Given the description of an element on the screen output the (x, y) to click on. 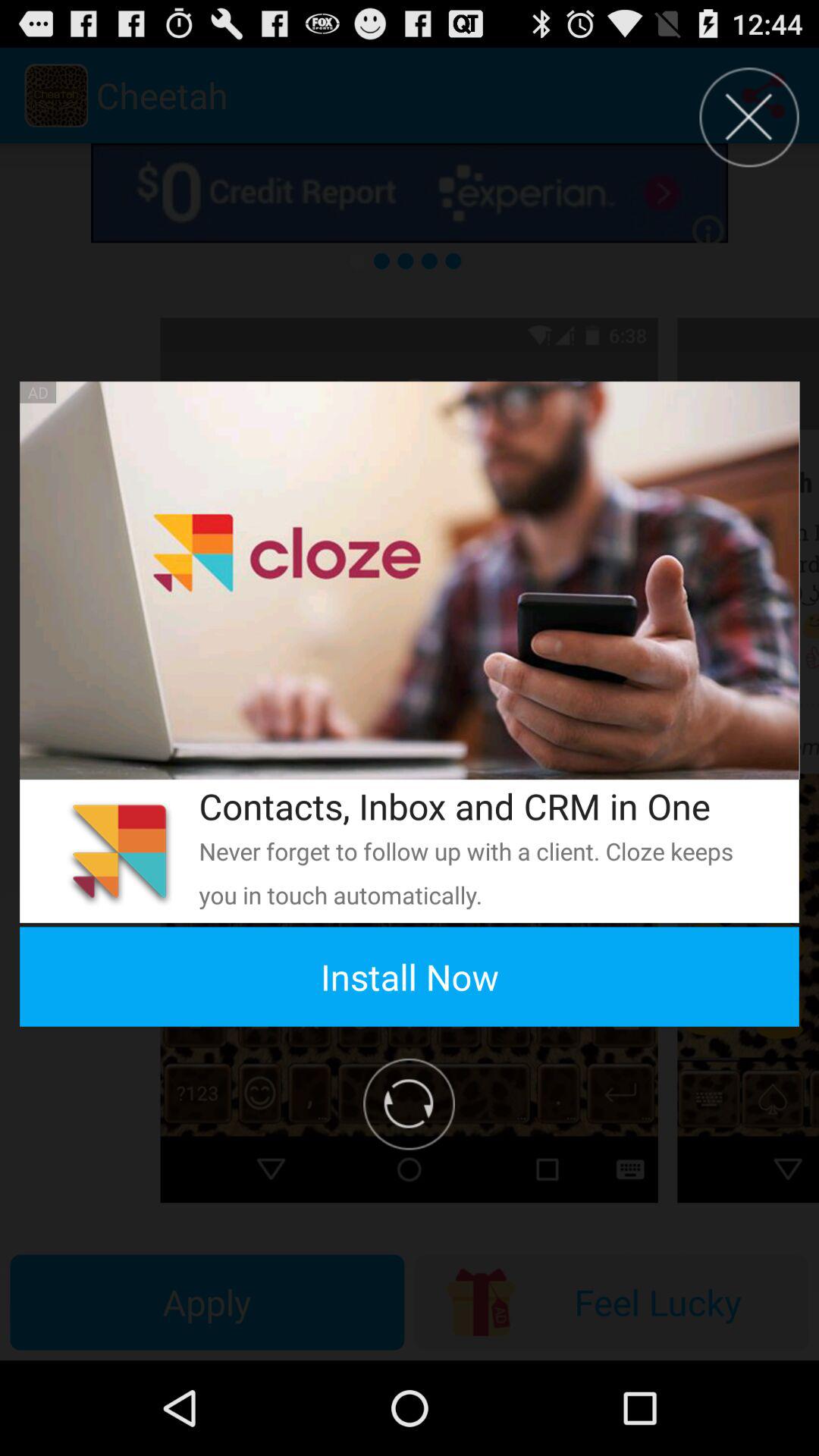
launch the app above contacts inbox and icon (409, 580)
